Given the description of an element on the screen output the (x, y) to click on. 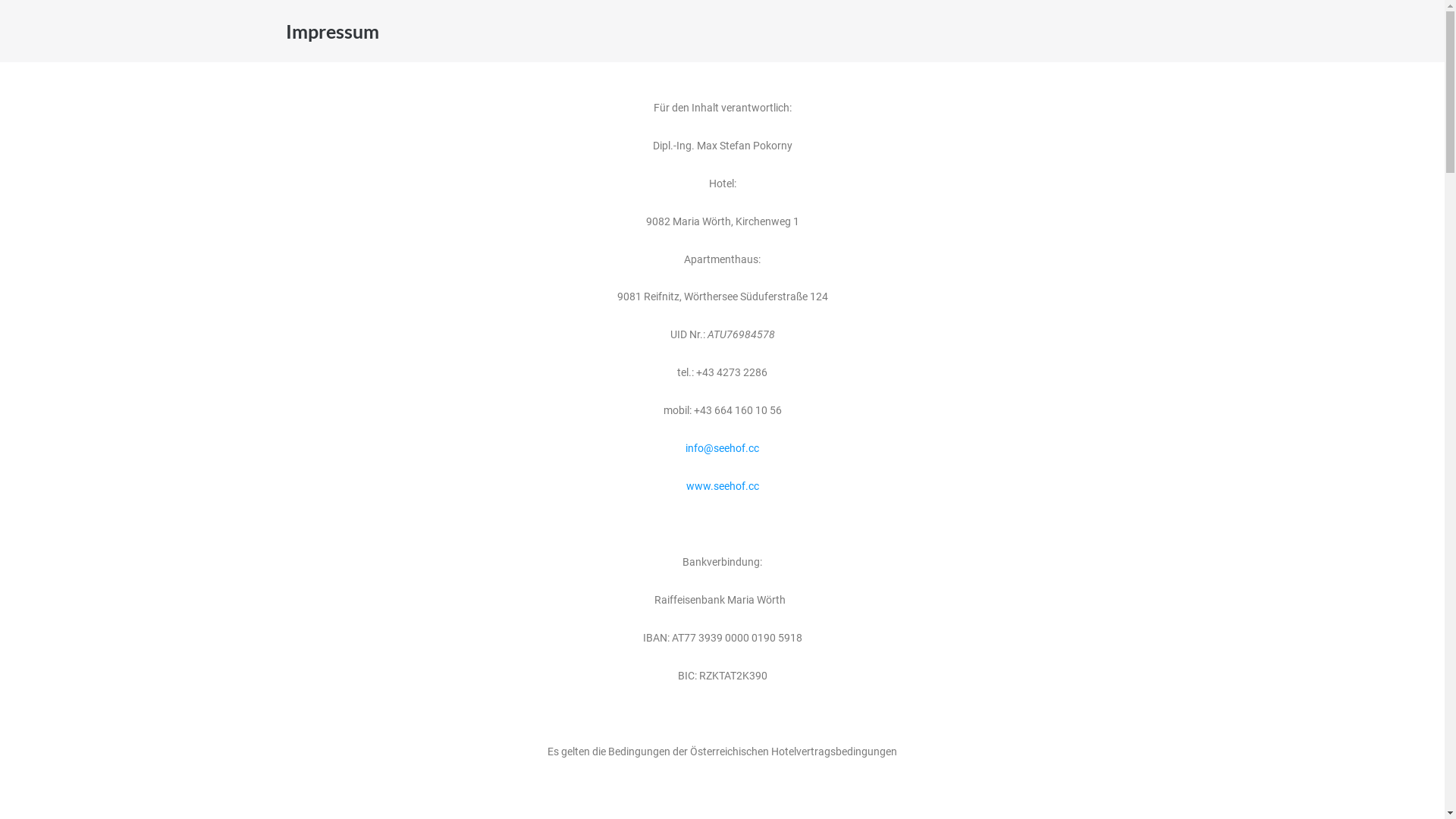
www.seehof.cc Element type: text (721, 486)
info@seehof.cc Element type: text (722, 448)
